Given the description of an element on the screen output the (x, y) to click on. 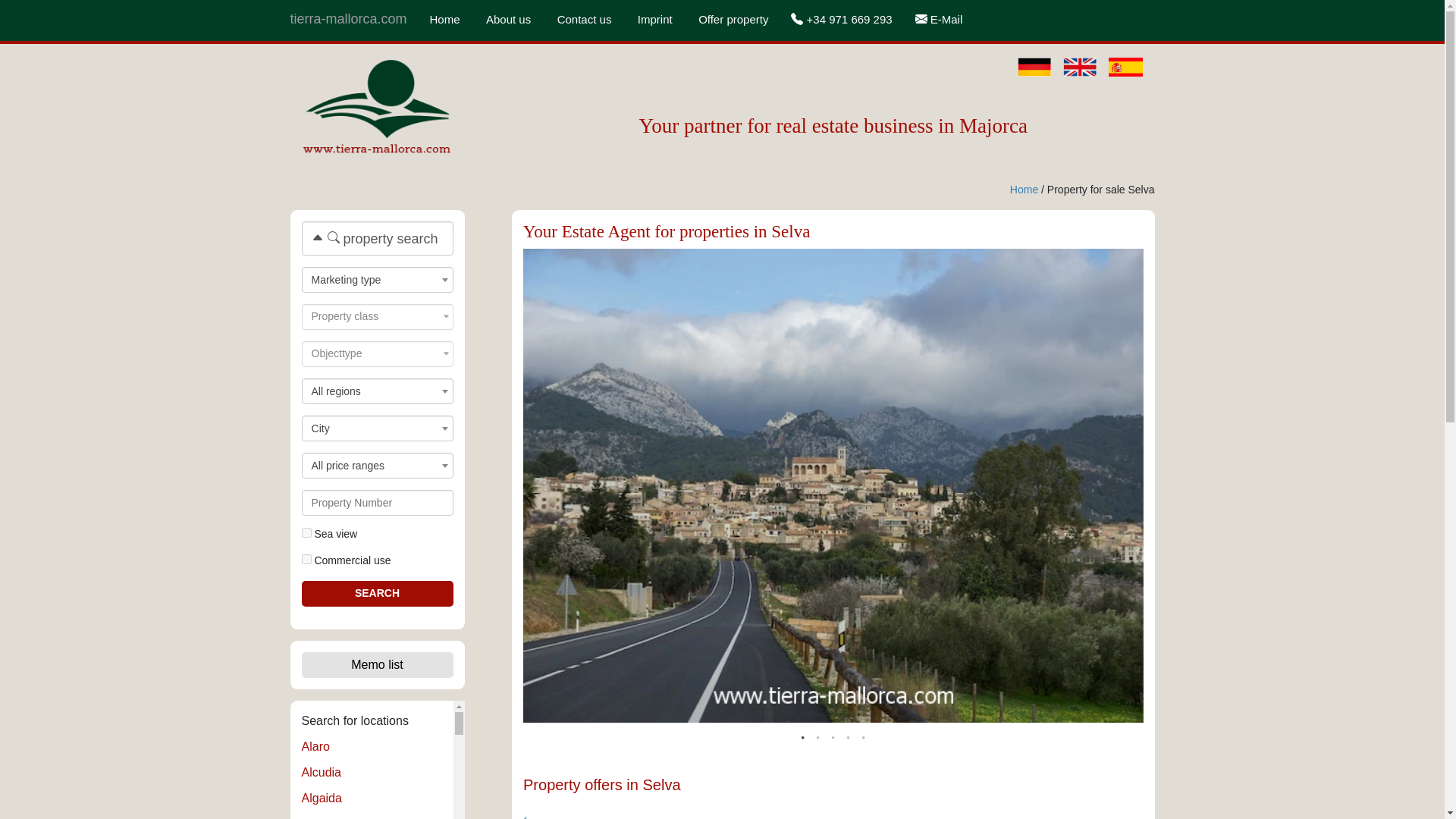
marketing type (376, 278)
search (376, 593)
search (376, 593)
The team on Mallorca (507, 20)
Alaro (315, 746)
Alcudia (320, 771)
Here you can suggest properties on Mallorca (732, 20)
gewerbe (306, 559)
city (376, 427)
Andratx (322, 818)
Tierra-mallorca.com (376, 103)
Home (1024, 189)
E-Mail (939, 20)
all price ranges (376, 464)
submit an email (584, 20)
